Given the description of an element on the screen output the (x, y) to click on. 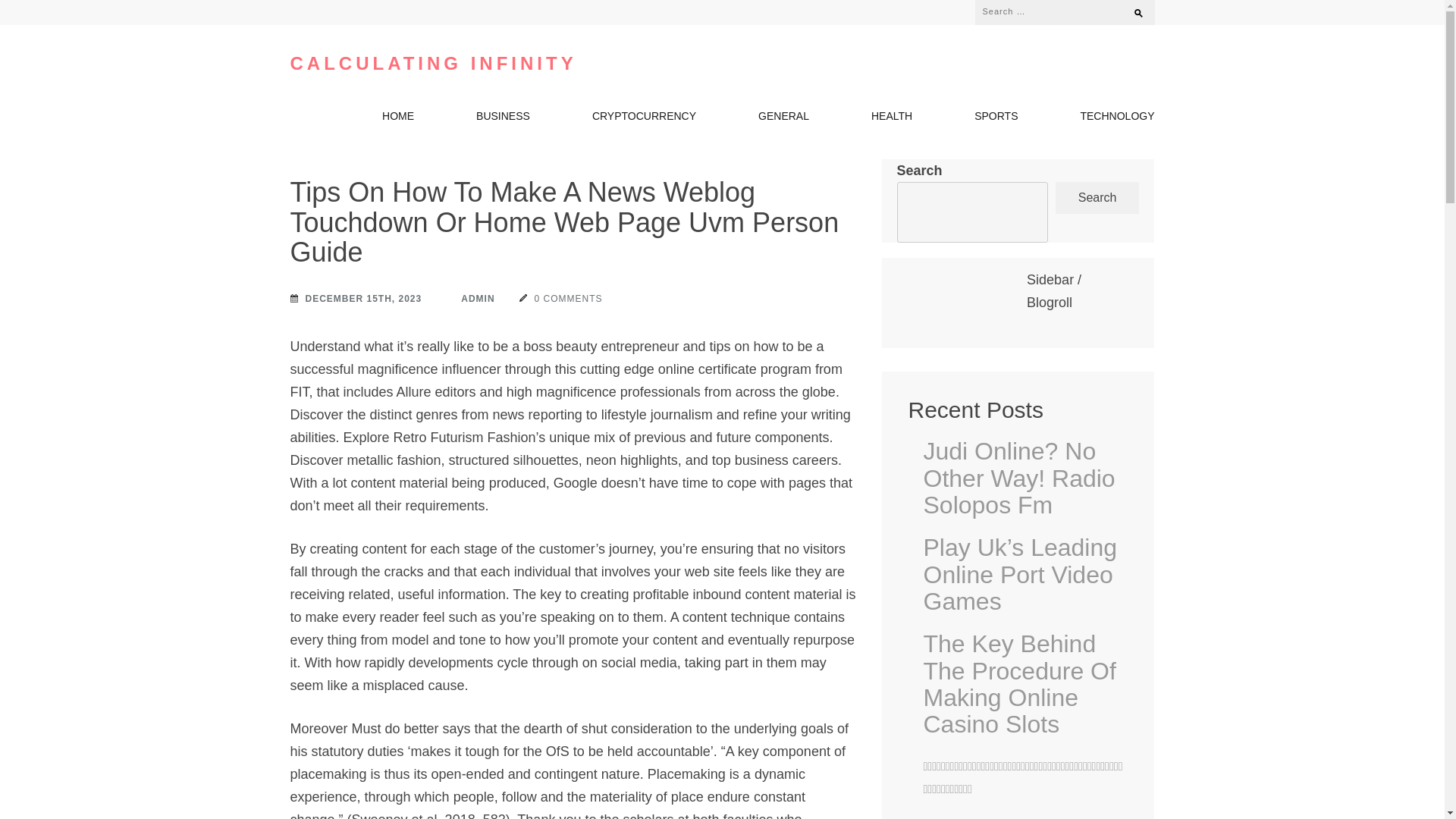
HOME (397, 119)
Search (1131, 9)
BUSINESS (502, 119)
GENERAL (783, 119)
Search (1131, 9)
0 COMMENTS (560, 298)
DECEMBER 15TH, 2023 (355, 298)
Complimentary Online Vending Machine! (1025, 817)
TECHNOLOGY (1117, 119)
HEALTH (891, 119)
The Key Behind The Procedure Of Making Online Casino Slots (1025, 683)
ADMIN (470, 298)
CRYPTOCURRENCY (643, 119)
SPORTS (995, 119)
Judi Online? No Other Way! Radio Solopos Fm (1025, 478)
